Given the description of an element on the screen output the (x, y) to click on. 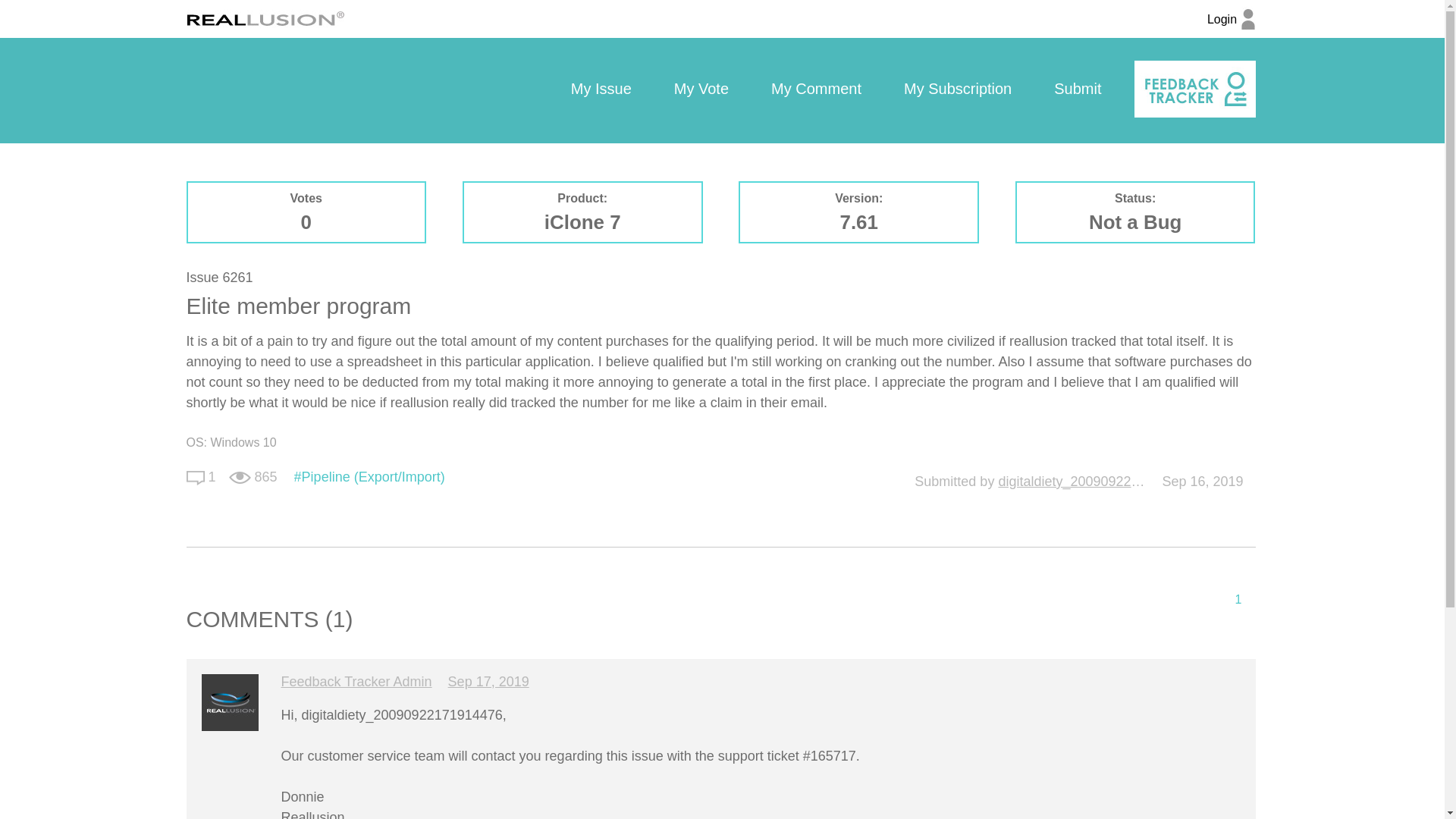
My Vote (700, 89)
Feedback Tracker Home (1194, 88)
My Subscription (957, 89)
My Comment (815, 89)
Comments (195, 477)
Submit (1076, 89)
Views (239, 477)
My Issue (601, 89)
Login (1231, 27)
Reallusion (266, 18)
